Given the description of an element on the screen output the (x, y) to click on. 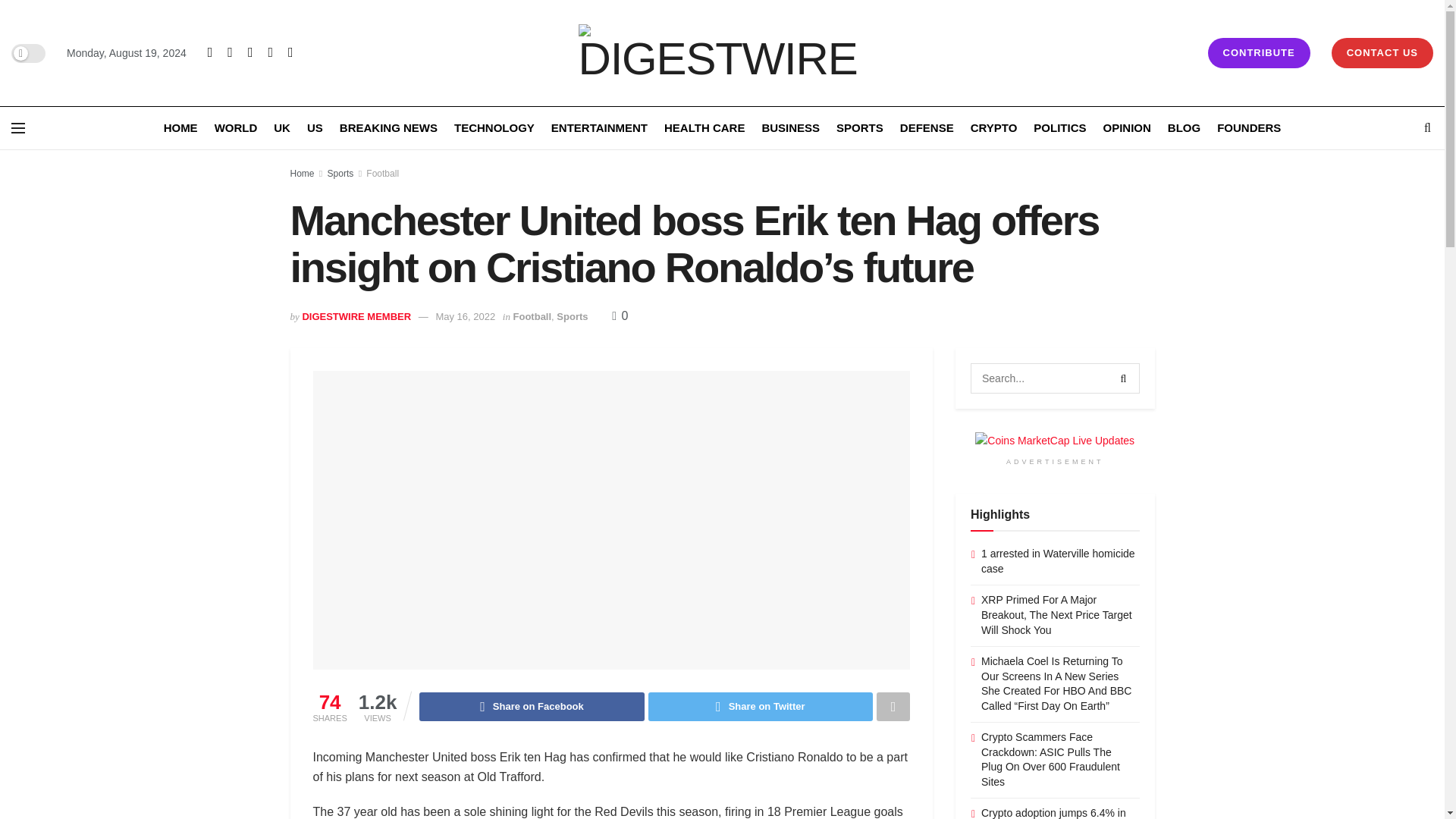
BREAKING NEWS (388, 127)
SPORTS (859, 127)
FOUNDERS (1249, 127)
ENTERTAINMENT (599, 127)
DEFENSE (926, 127)
POLITICS (1059, 127)
CONTACT US (1382, 52)
WORLD (235, 127)
HOME (180, 127)
BLOG (1183, 127)
